Given the description of an element on the screen output the (x, y) to click on. 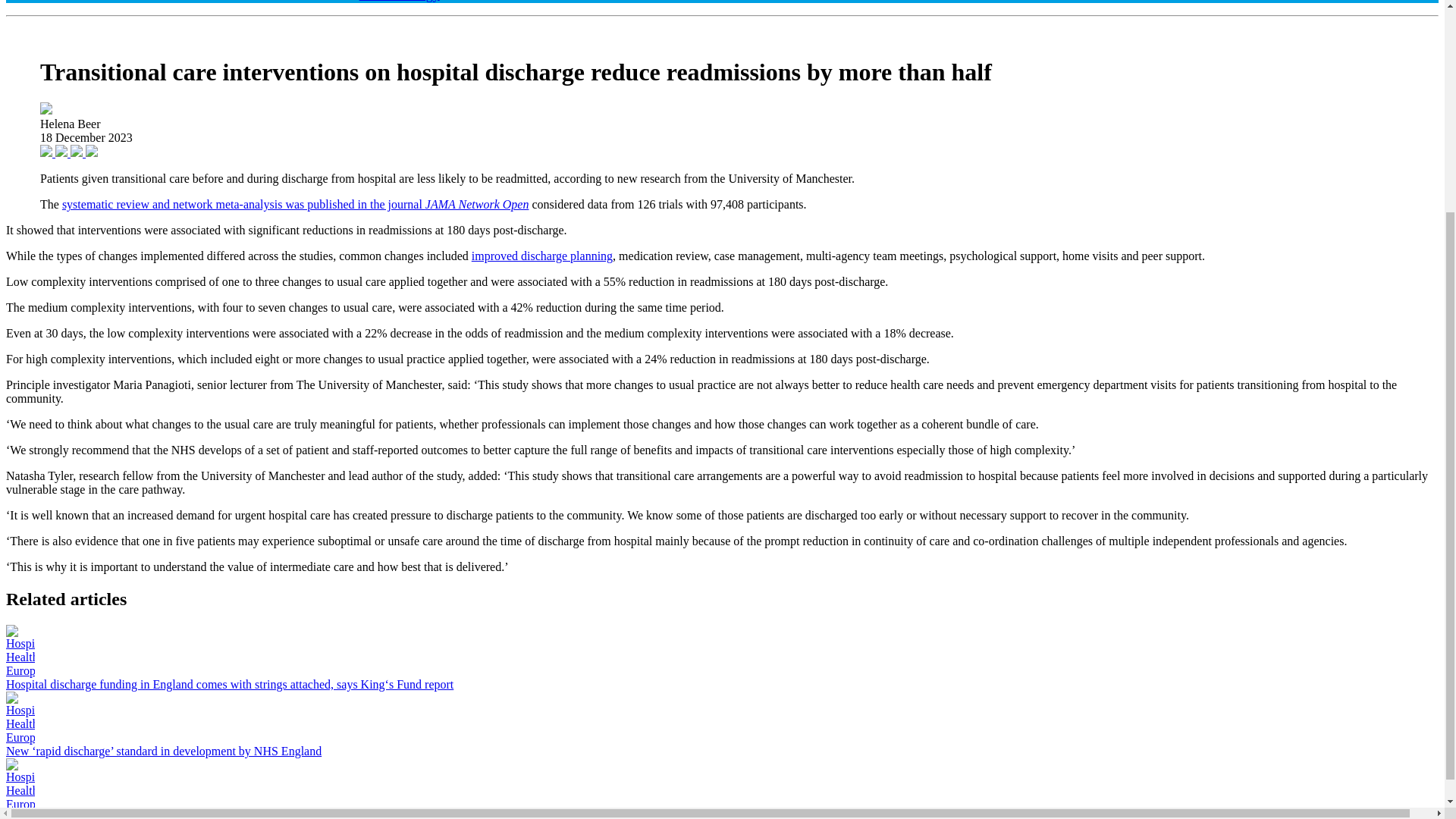
improved discharge planning (541, 255)
Rheumatology (399, 2)
